Given the description of an element on the screen output the (x, y) to click on. 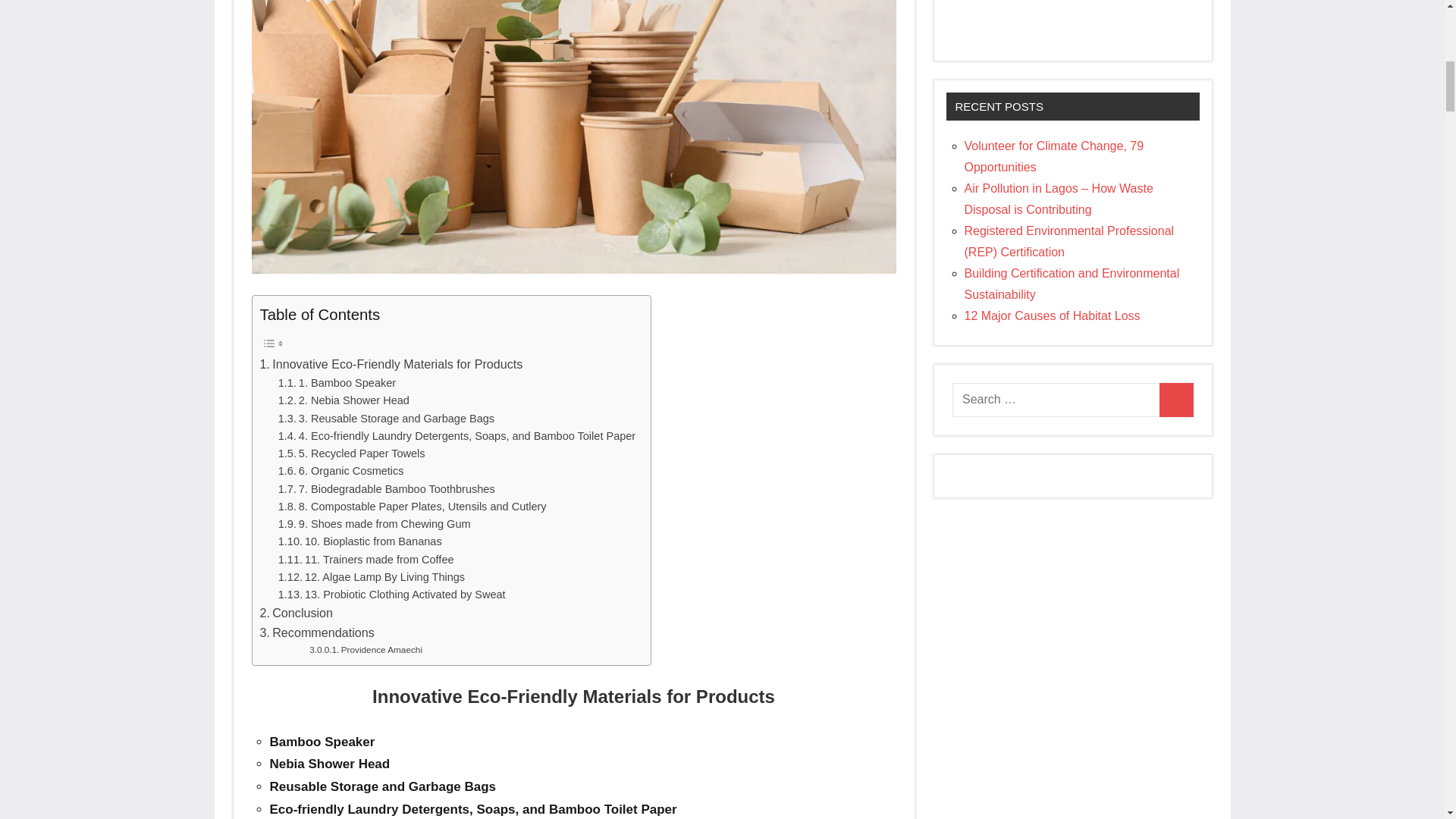
11. Trainers made from Coffee (366, 559)
9. Shoes made from Chewing Gum (374, 524)
1. Bamboo Speaker (337, 383)
5. Recycled Paper Towels (351, 453)
8. Compostable Paper Plates, Utensils and Cutlery (412, 506)
Innovative Eco-Friendly Materials for Products (390, 364)
12. Algae Lamp By Living Things (371, 577)
3. Reusable Storage and Garbage Bags (386, 418)
10. Bioplastic from Bananas (360, 541)
